Given the description of an element on the screen output the (x, y) to click on. 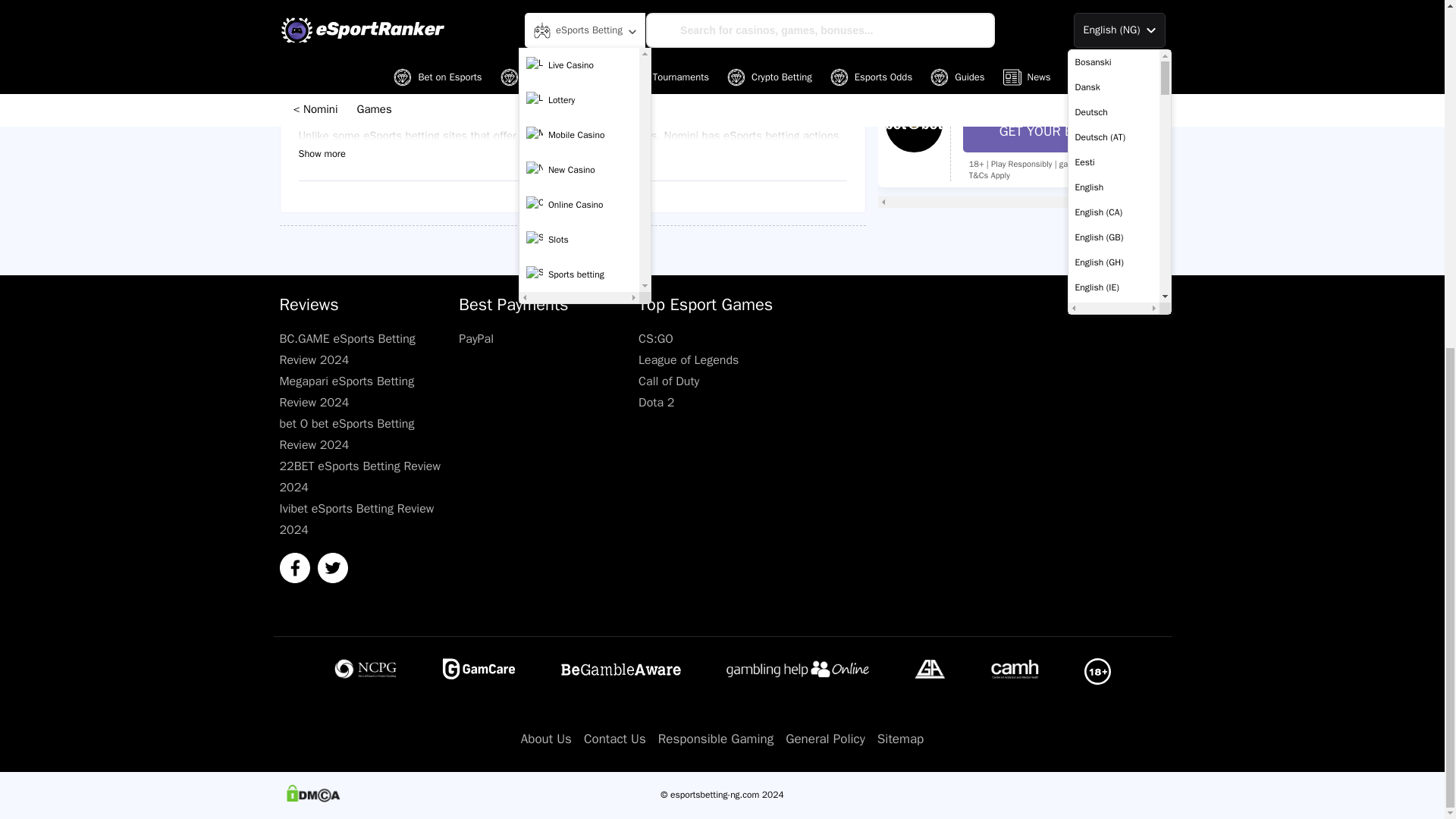
Hrvatski (1113, 213)
